Given the description of an element on the screen output the (x, y) to click on. 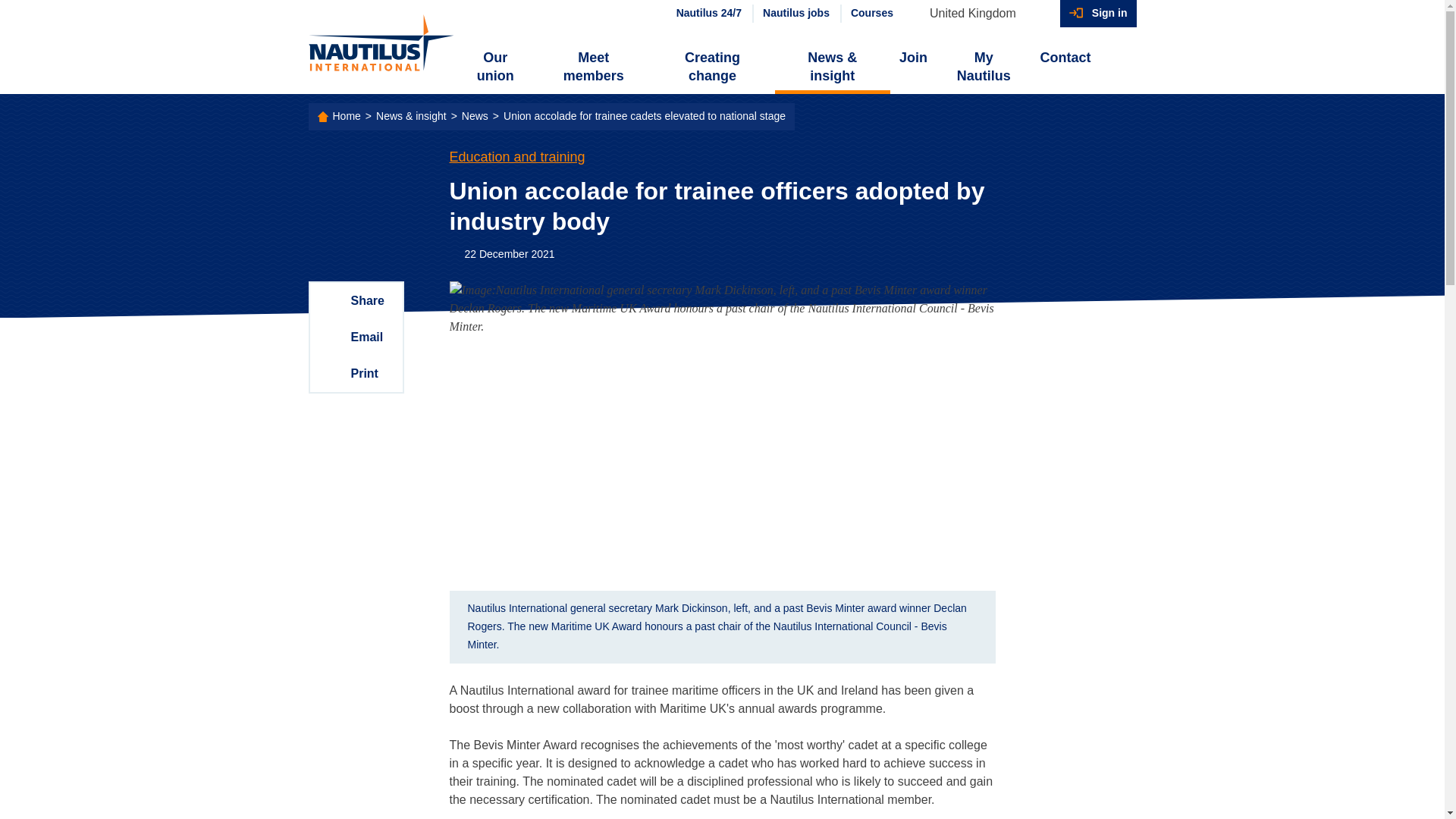
My Nautilus (983, 67)
Join (912, 58)
Meet members (593, 67)
Nautilus jobs (795, 13)
Contact (1065, 58)
Courses (871, 13)
Our union (495, 67)
Sign in (1098, 13)
United Kingdom (979, 13)
Creating change (711, 67)
